Given the description of an element on the screen output the (x, y) to click on. 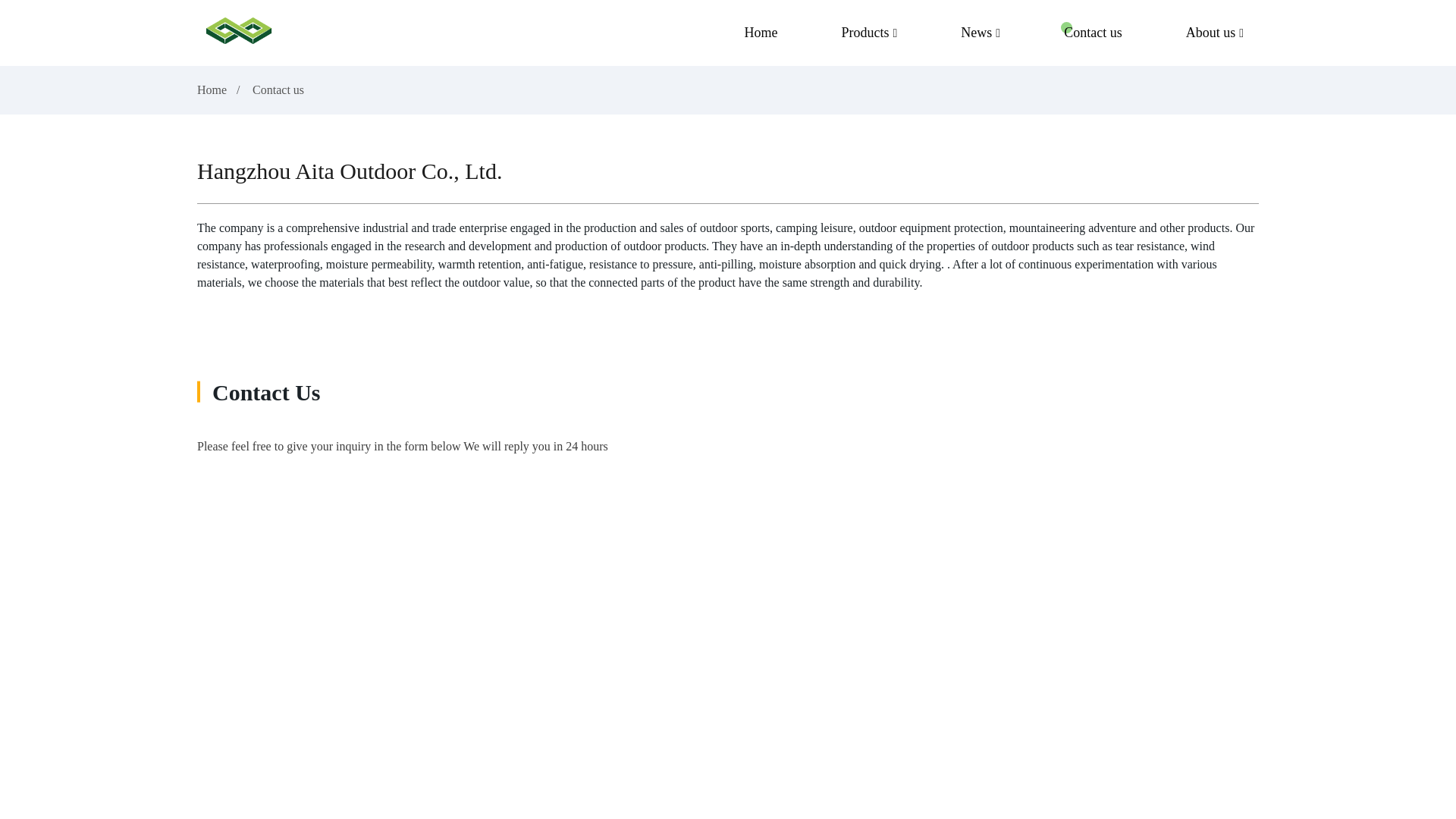
News (979, 33)
Home (760, 33)
Products (868, 33)
Home (211, 89)
About us (1214, 33)
Contact us (277, 89)
Contact us (1092, 33)
